Given the description of an element on the screen output the (x, y) to click on. 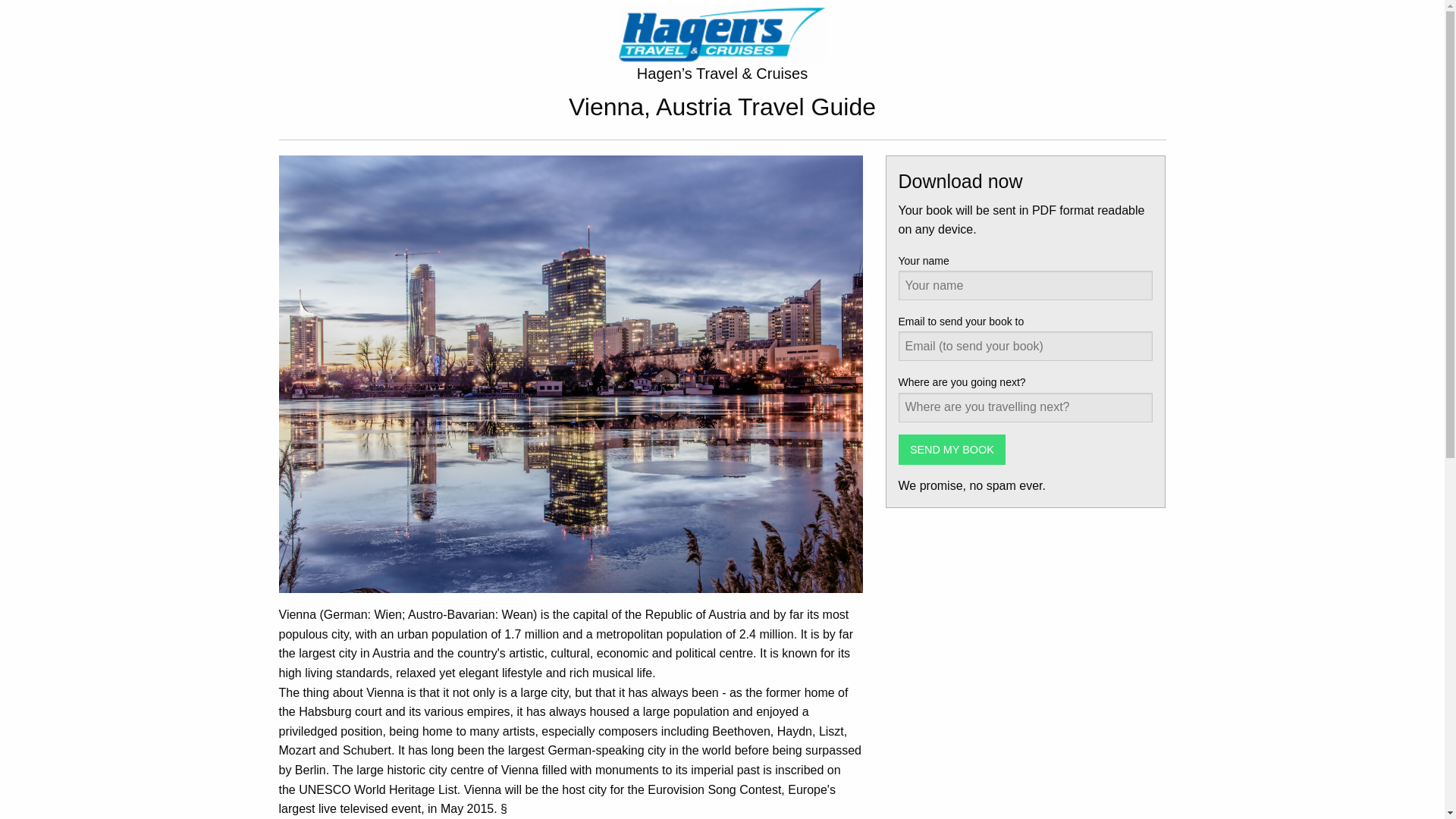
SEND MY BOOK (952, 450)
Travel Guides (721, 33)
